Given the description of an element on the screen output the (x, y) to click on. 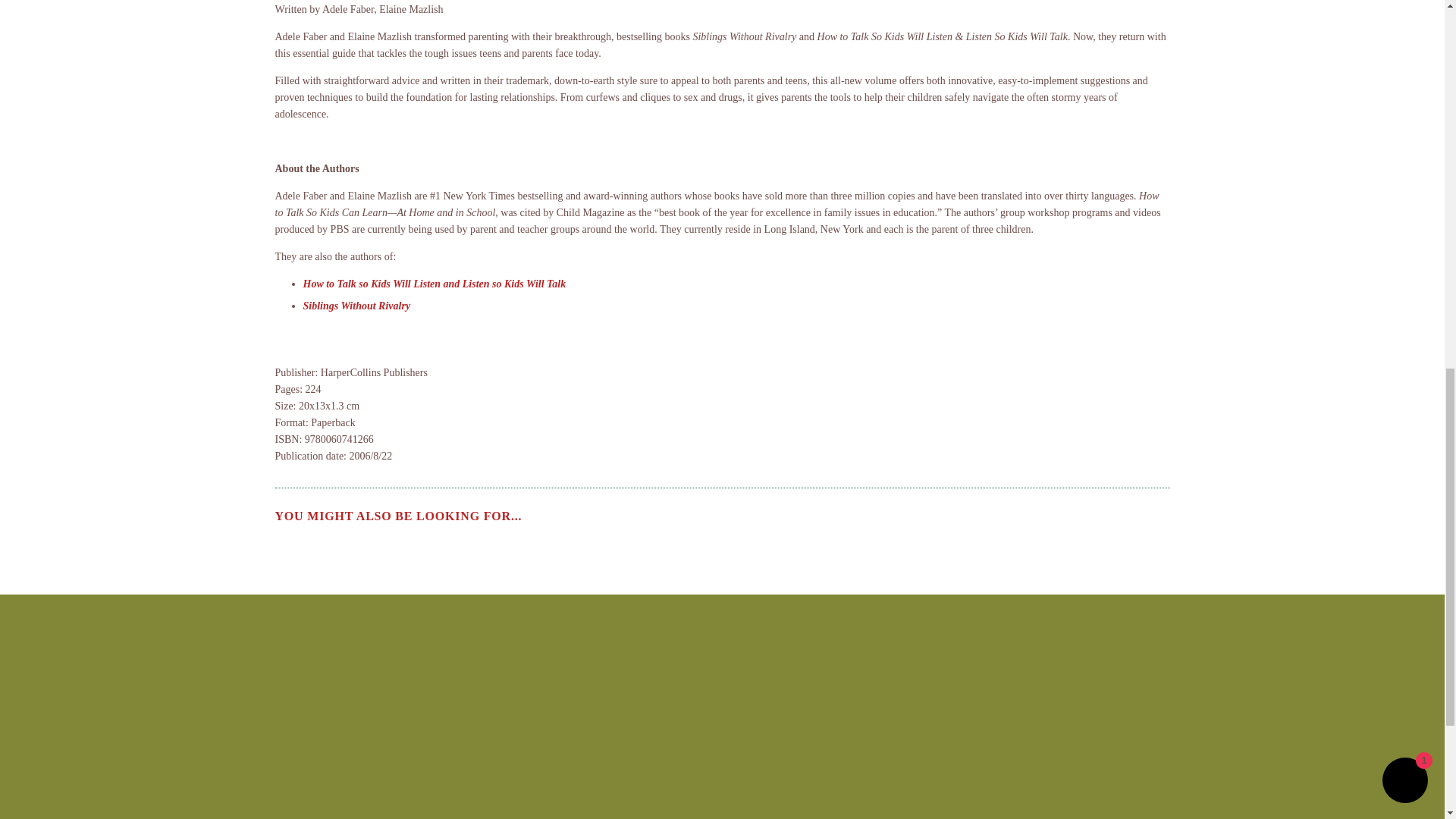
How to Talk so Kids Will Listen and Listen so Kids Will Talk (434, 283)
